Given the description of an element on the screen output the (x, y) to click on. 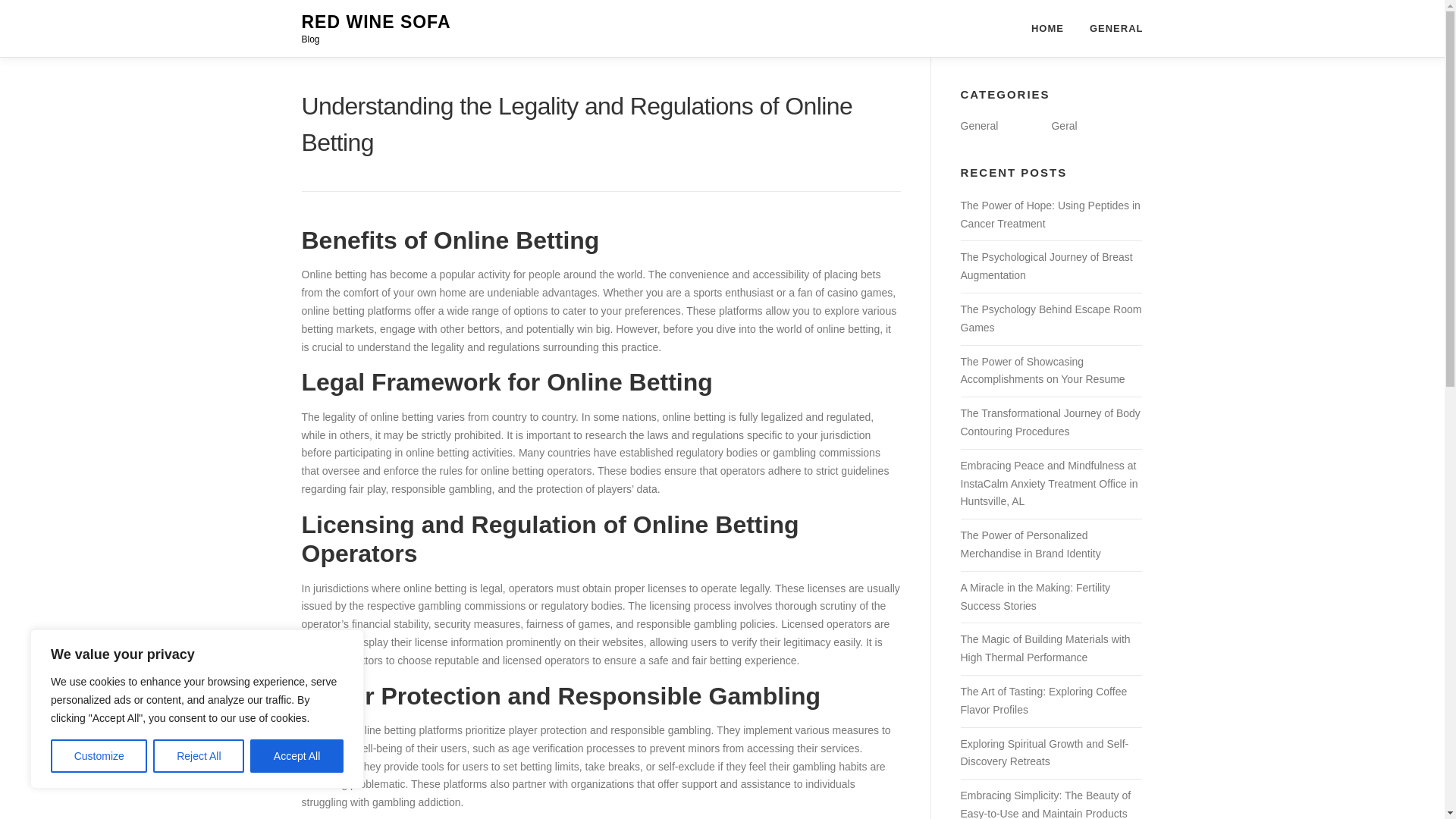
The Power of Personalized Merchandise in Brand Identity (1029, 544)
RED WINE SOFA (376, 21)
The Art of Tasting: Exploring Coffee Flavor Profiles (1042, 700)
A Miracle in the Making: Fertility Success Stories (1034, 596)
Reject All (198, 756)
HOME (1047, 28)
Accept All (296, 756)
The Power of Showcasing Accomplishments on Your Resume (1041, 370)
Customize (98, 756)
General (978, 125)
The Psychological Journey of Breast Augmentation (1045, 265)
Geral (1064, 125)
The Power of Hope: Using Peptides in Cancer Treatment (1049, 214)
